Given the description of an element on the screen output the (x, y) to click on. 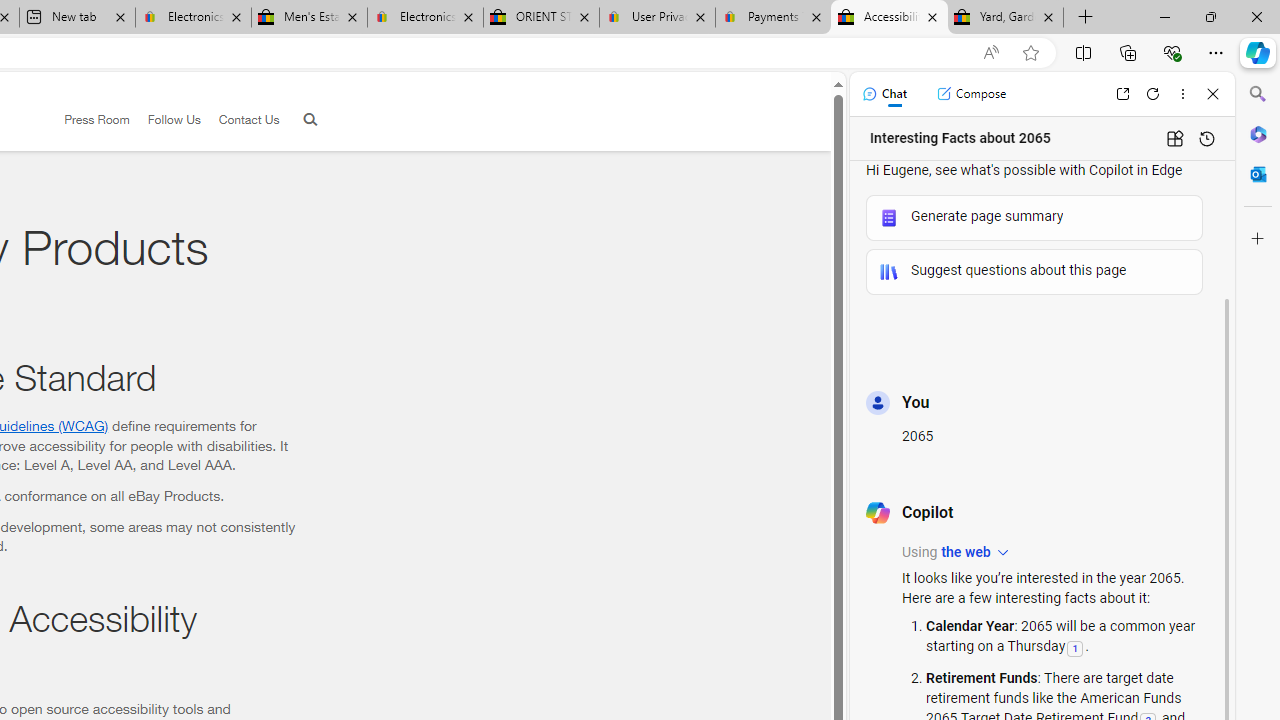
Payments Terms of Use | eBay.com (772, 17)
Electronics, Cars, Fashion, Collectibles & More | eBay (424, 17)
User Privacy Notice | eBay (657, 17)
Press Room (97, 119)
More options (1182, 93)
Accessibility - eBay Inc. (889, 17)
